Given the description of an element on the screen output the (x, y) to click on. 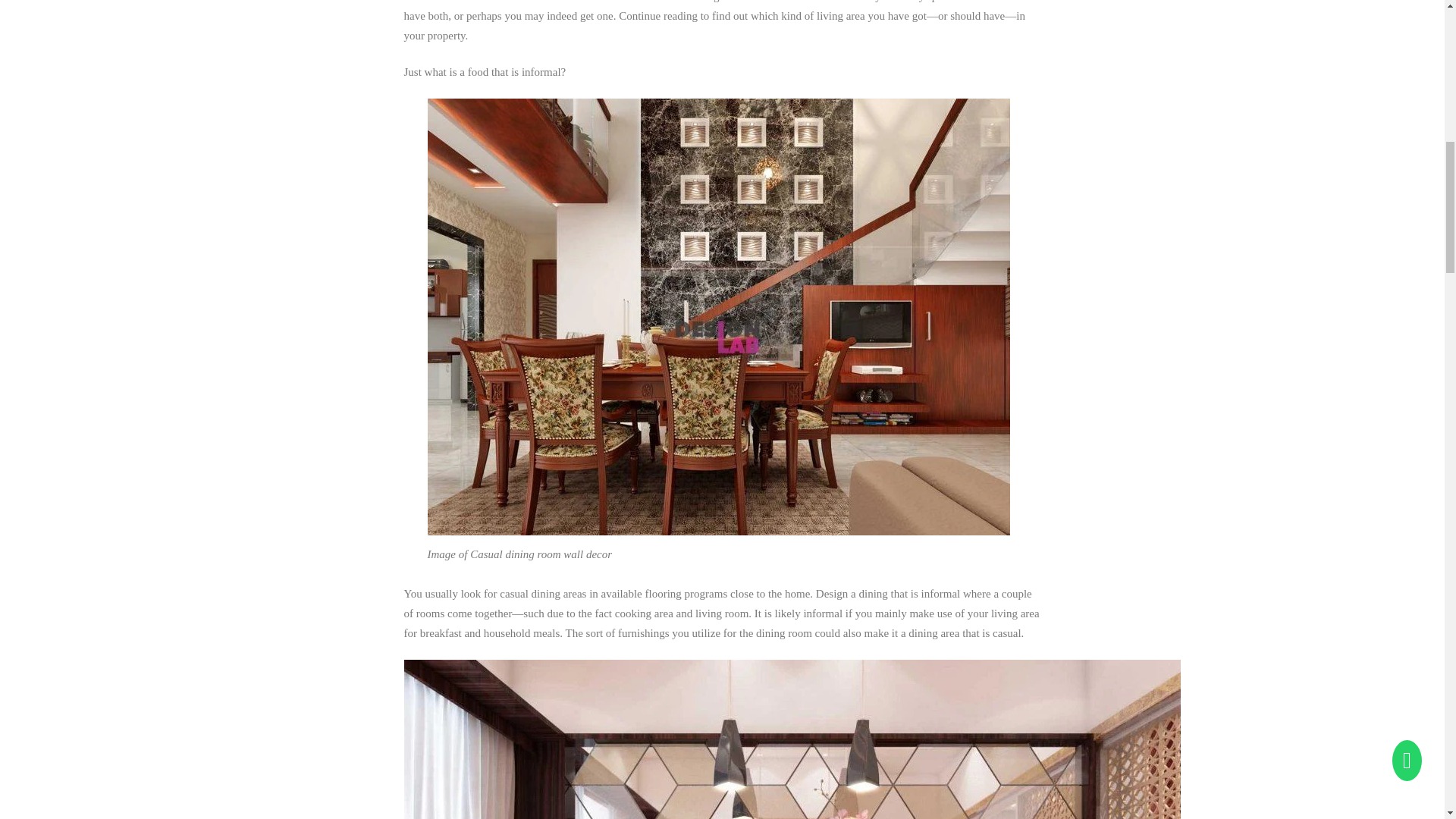
Send (1234, 172)
